Given the description of an element on the screen output the (x, y) to click on. 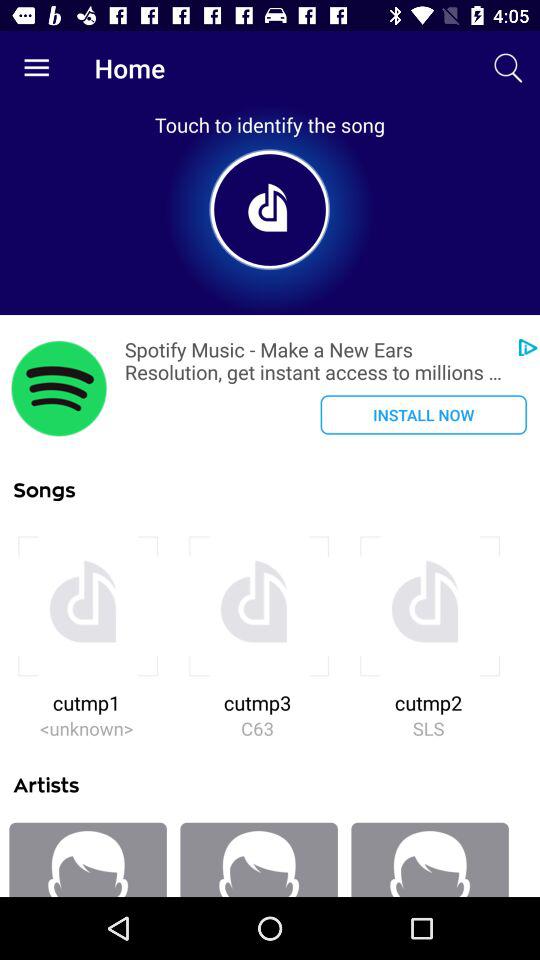
scroll until the install now (423, 414)
